Given the description of an element on the screen output the (x, y) to click on. 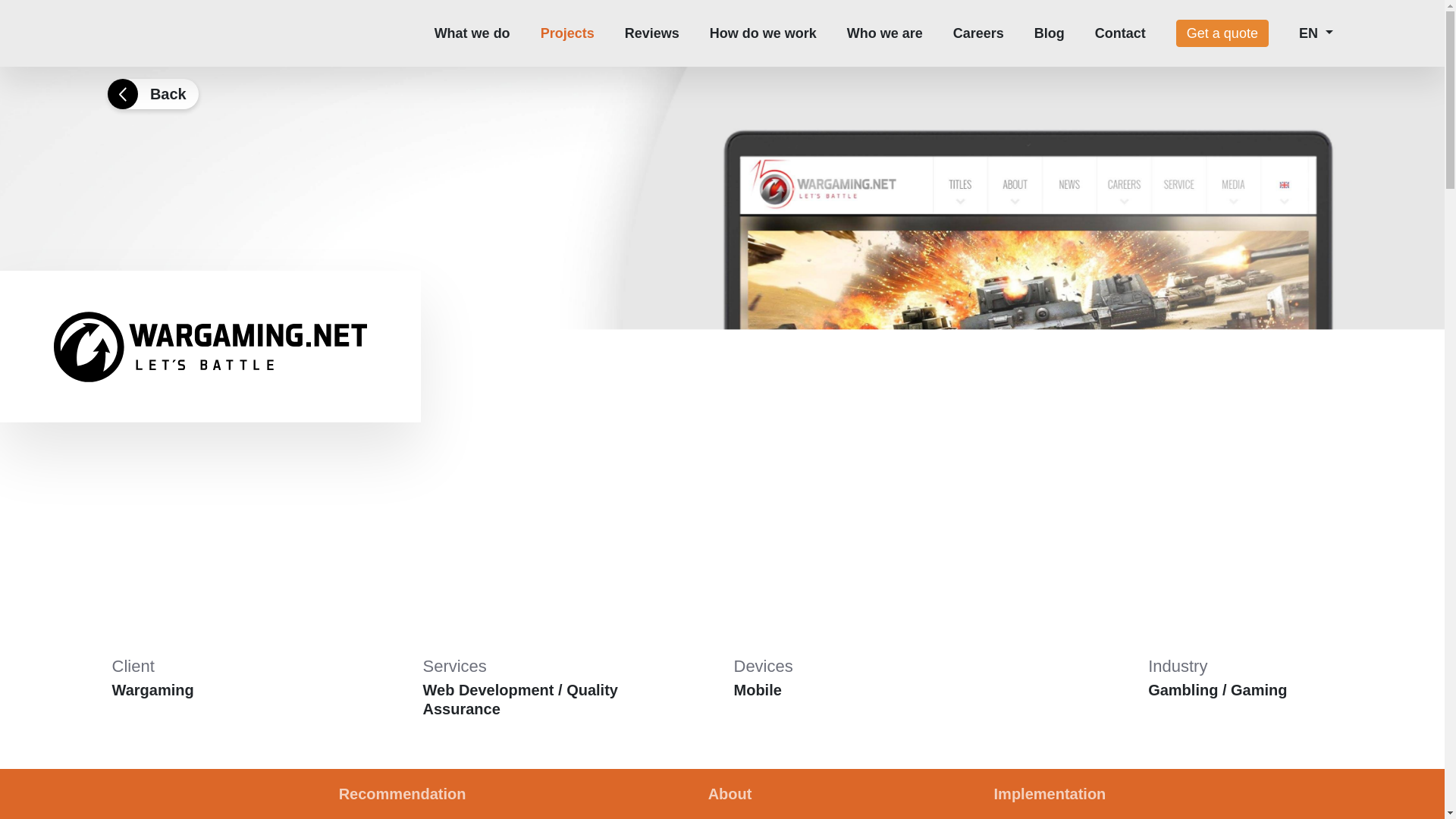
Careers (978, 33)
EN (1315, 33)
Blog (1048, 33)
Back (152, 93)
Projects (567, 33)
Contact (1119, 33)
Implementation (1050, 794)
Get a quote (1222, 32)
Reviews (651, 33)
Recommendation (402, 794)
